Given the description of an element on the screen output the (x, y) to click on. 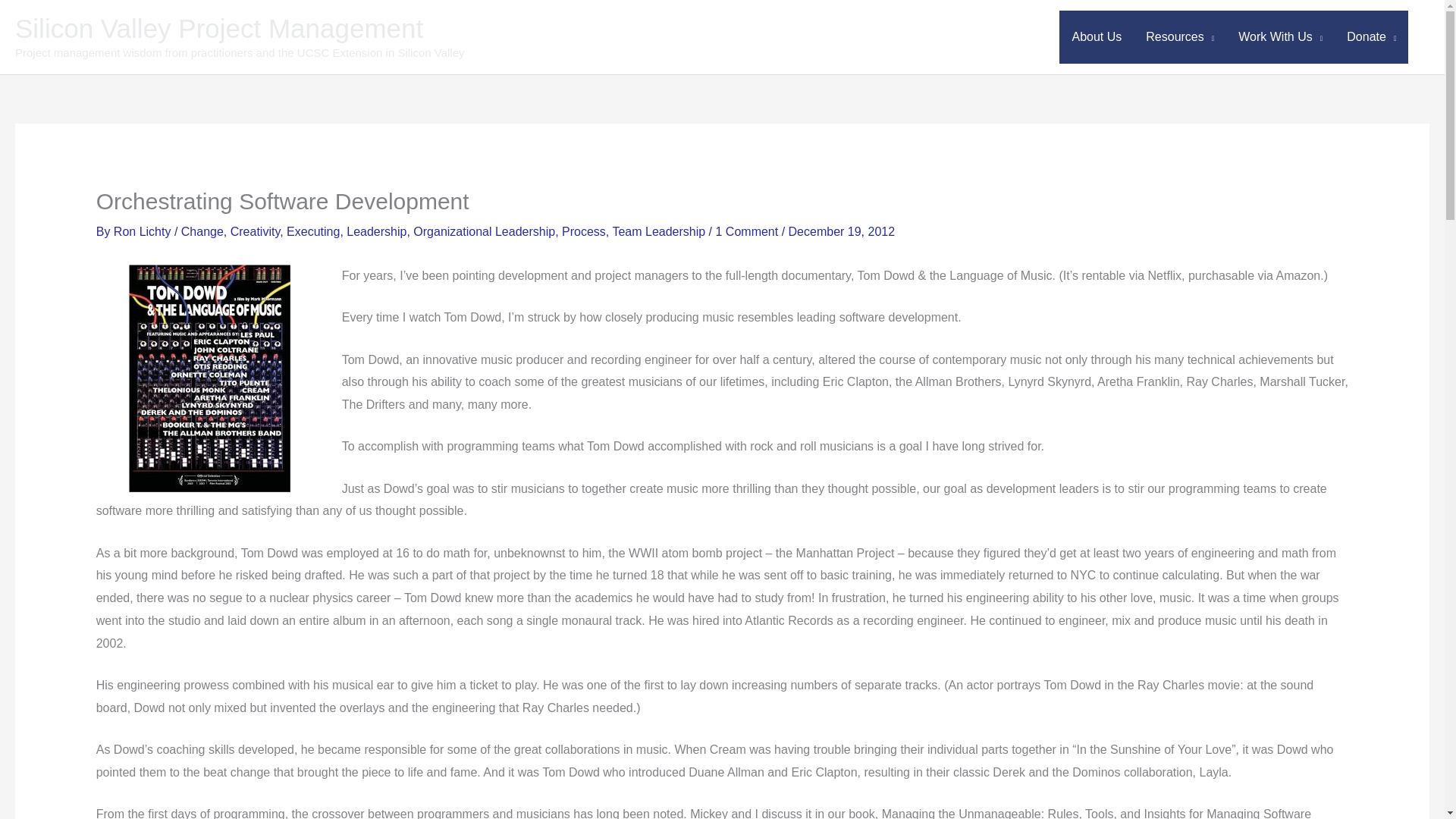
Executing (312, 231)
Work With Us (1280, 36)
Creativity (255, 231)
About Us (1096, 36)
Resources (1179, 36)
Silicon Valley Project Management (218, 28)
Donate (1371, 36)
View all posts by Ron Lichty (143, 231)
Ron Lichty (143, 231)
Change (202, 231)
